Given the description of an element on the screen output the (x, y) to click on. 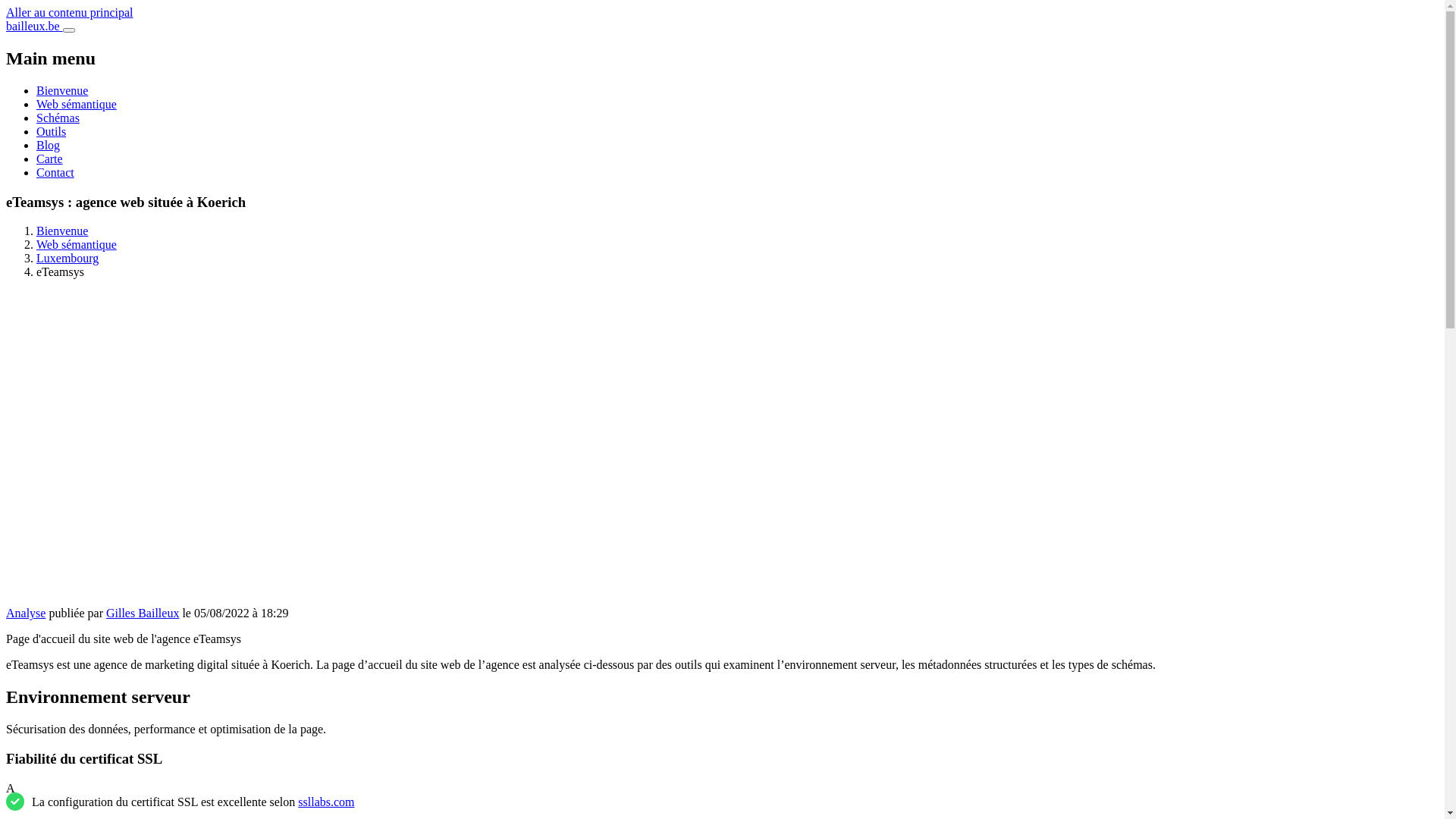
Analyse Element type: text (25, 612)
Bienvenue Element type: text (61, 230)
Contact Element type: text (55, 172)
Bienvenue Element type: text (61, 90)
Carte Element type: text (49, 158)
Aller au contenu principal Element type: text (69, 12)
Blog Element type: text (47, 144)
Gilles Bailleux Element type: text (142, 612)
ssllabs.com Element type: text (326, 800)
Luxembourg Element type: text (67, 257)
bailleux.be Element type: text (34, 25)
Outils Element type: text (50, 131)
